Given the description of an element on the screen output the (x, y) to click on. 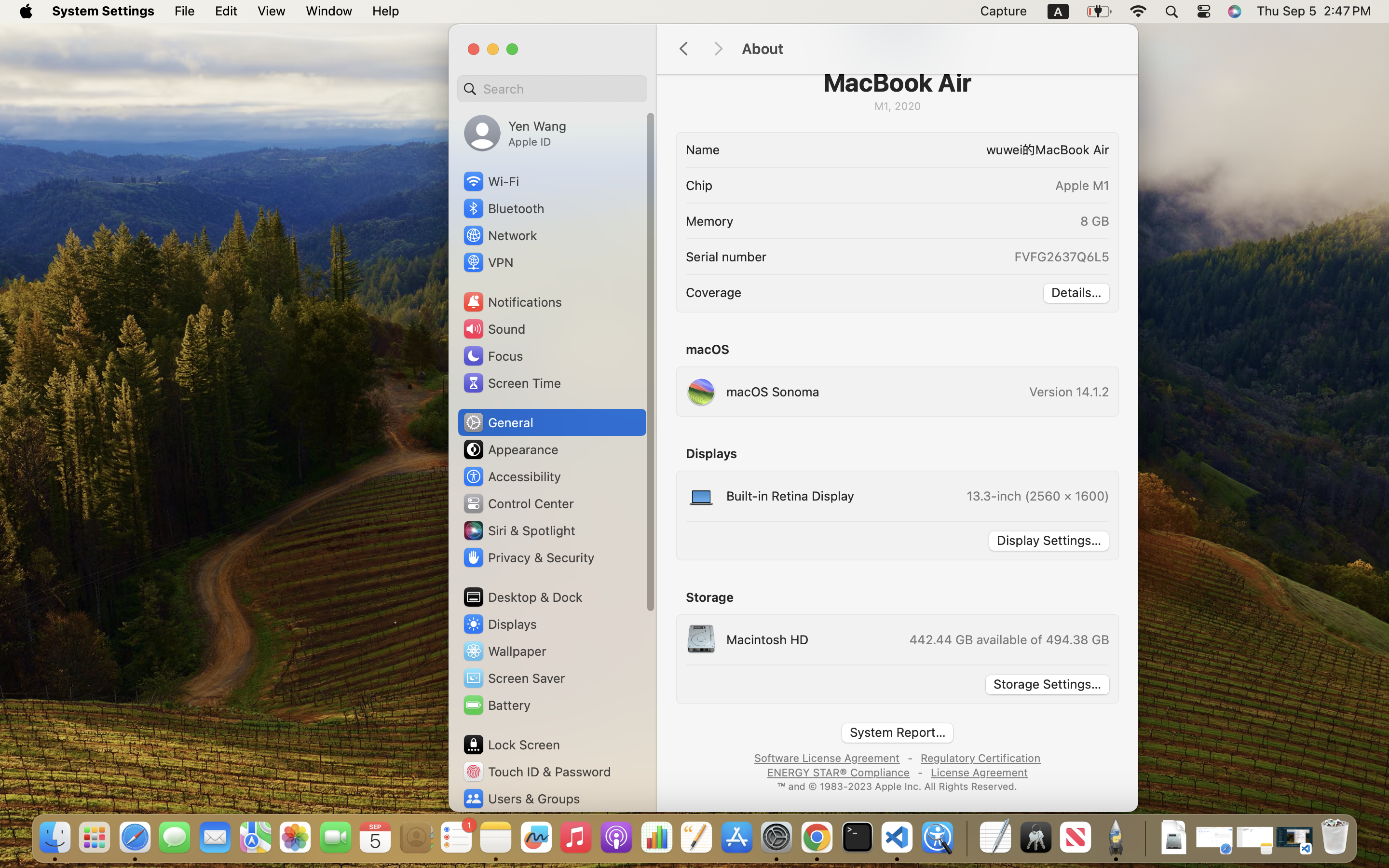
Built-in Retina Display Element type: AXStaticText (769, 495)
Wi‑Fi Element type: AXStaticText (490, 180)
Memory Element type: AXStaticText (709, 220)
Macintosh HD Element type: AXStaticText (746, 638)
MacBook Air Element type: AXStaticText (897, 82)
